Given the description of an element on the screen output the (x, y) to click on. 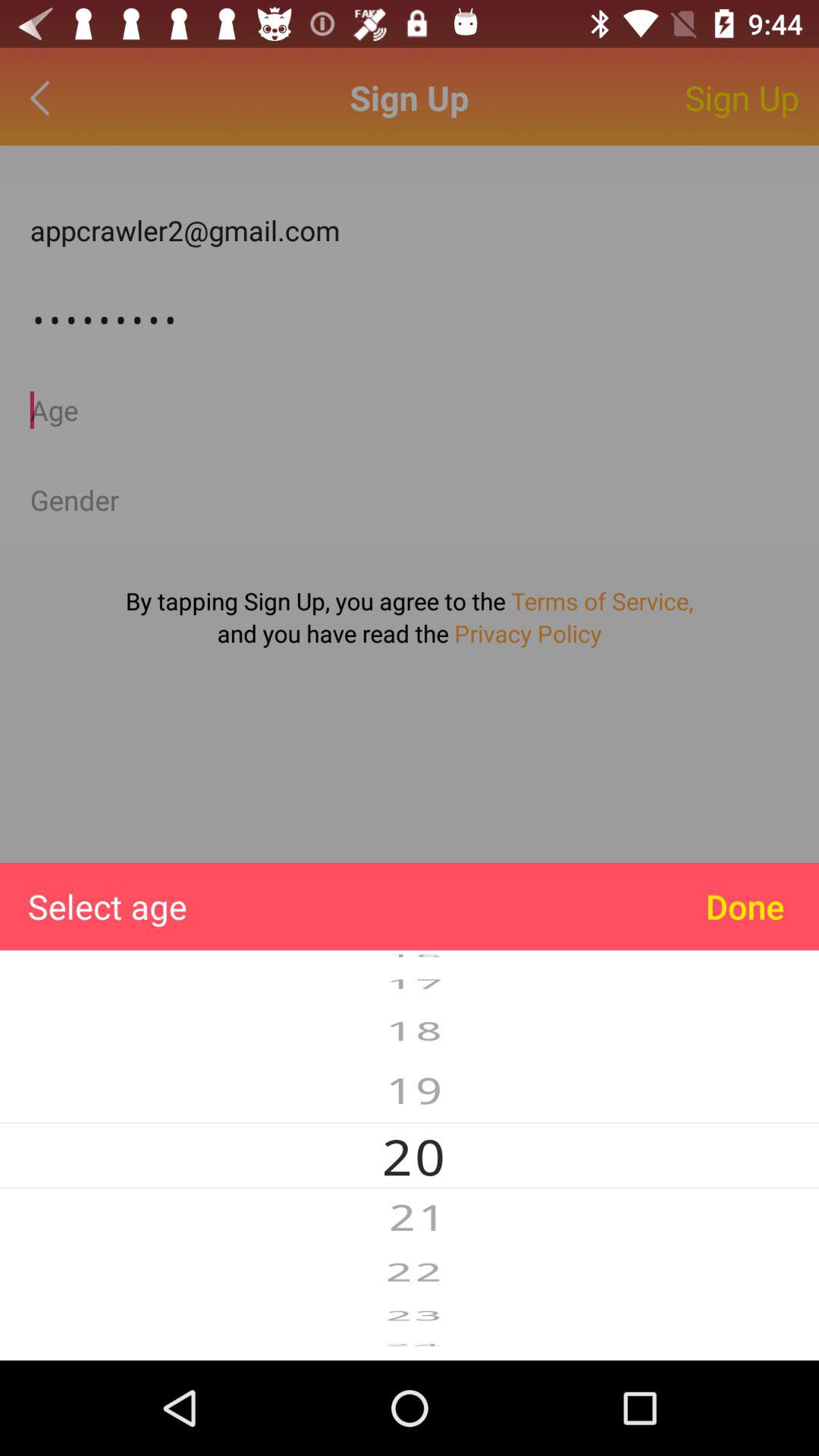
share the artical (409, 499)
